Given the description of an element on the screen output the (x, y) to click on. 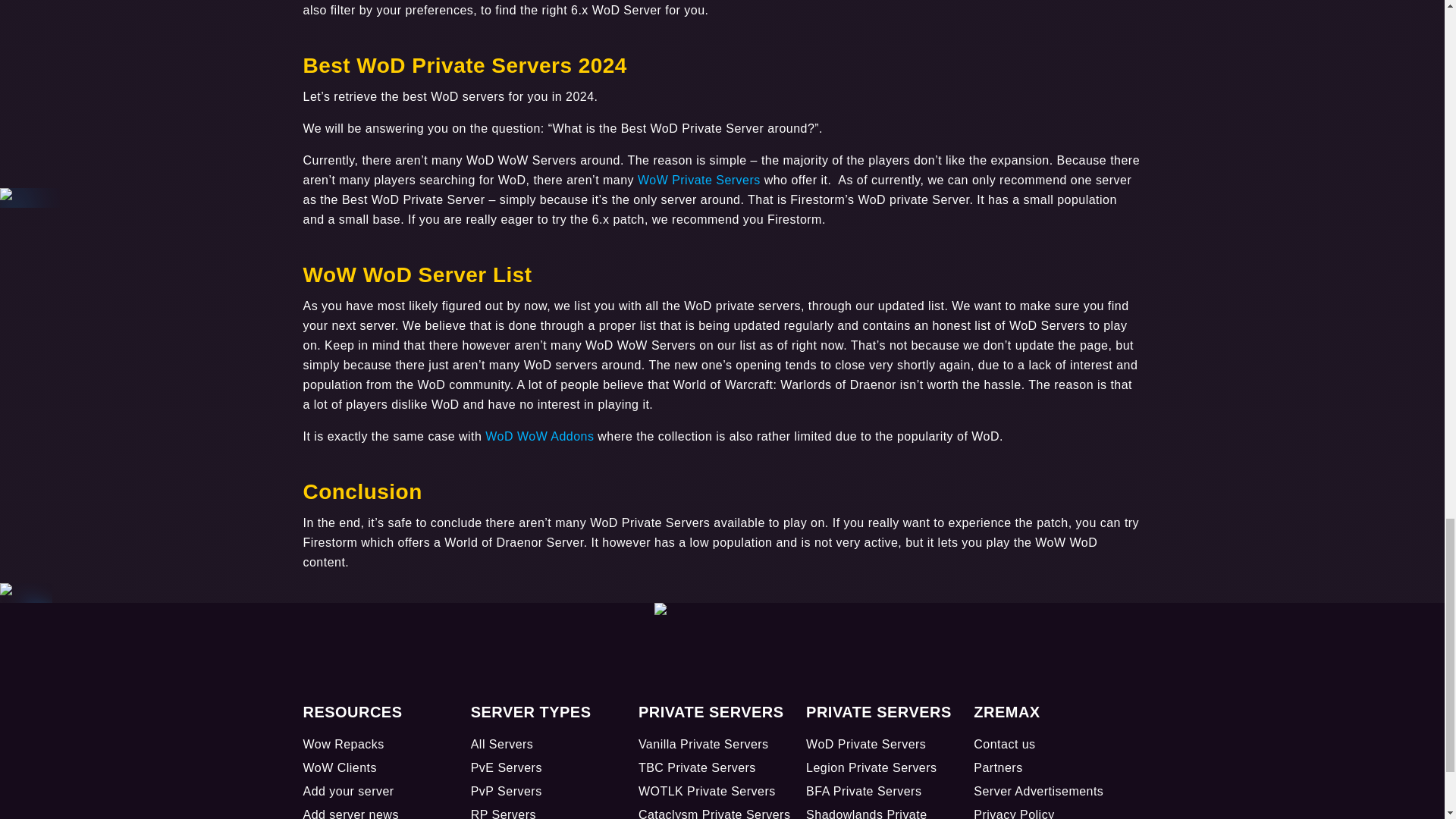
TBC Private Servers (697, 767)
WoD Private Servers (866, 743)
PvP Servers (505, 789)
WOTLK Private Servers (707, 789)
Add your server (348, 789)
PvE Servers (505, 767)
WoW Clients (339, 767)
Wow Repacks (343, 743)
Add server news (350, 813)
WoW Private Servers (698, 178)
RP Servers (502, 813)
All Servers (502, 743)
Vanilla Private Servers (703, 743)
Cataclysm Private Servers (714, 813)
WoD WoW Addons (539, 435)
